Given the description of an element on the screen output the (x, y) to click on. 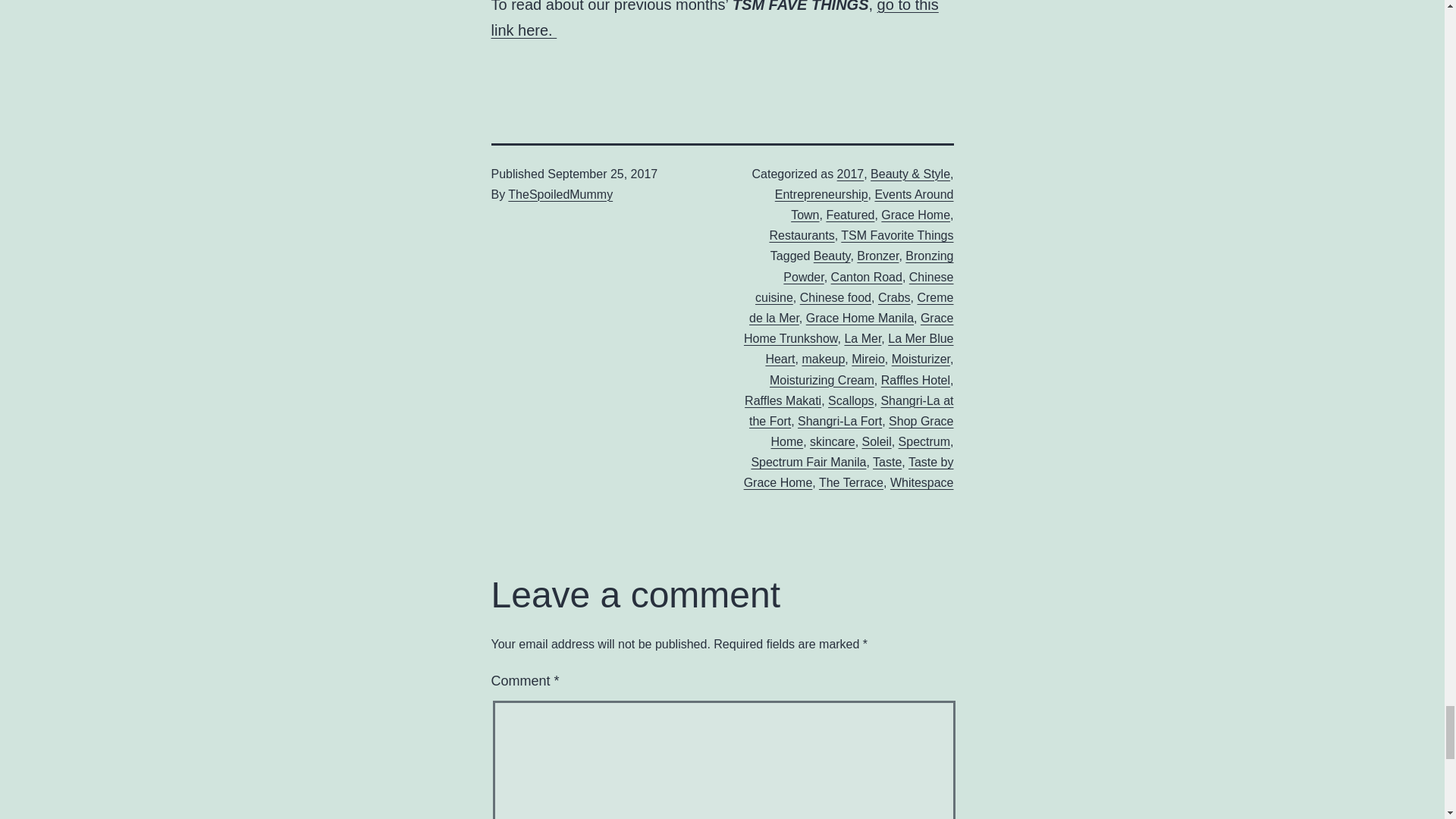
Grace Home (915, 214)
TSM Favorite Things (897, 235)
Entrepreneurship (820, 194)
Chinese food (834, 297)
Restaurants (801, 235)
makeup (823, 358)
La Mer Blue Heart (859, 348)
go to this link here.  (715, 19)
Crabs (894, 297)
Grace Home Trunkshow (848, 328)
